Given the description of an element on the screen output the (x, y) to click on. 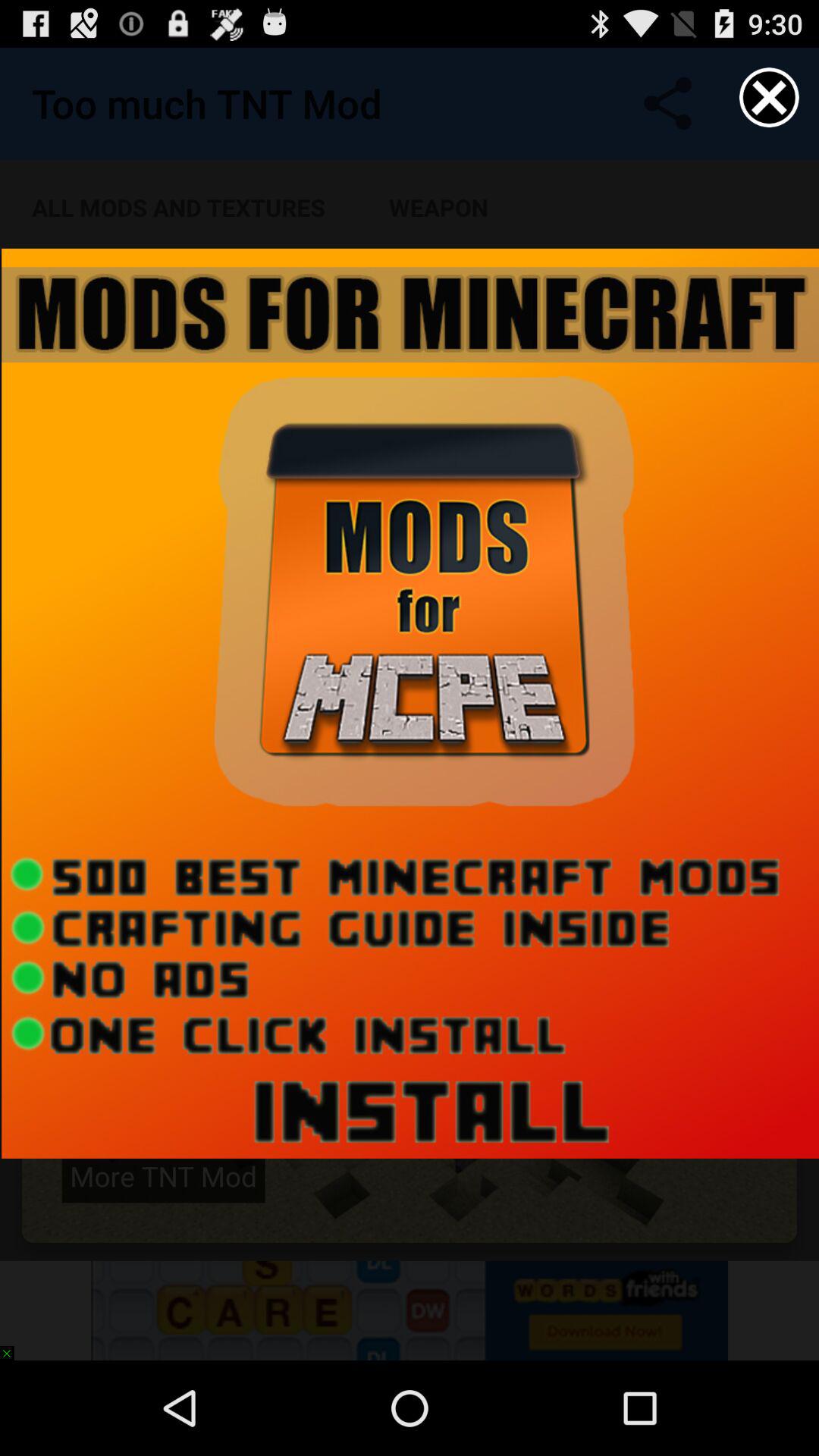
close button (769, 97)
